Given the description of an element on the screen output the (x, y) to click on. 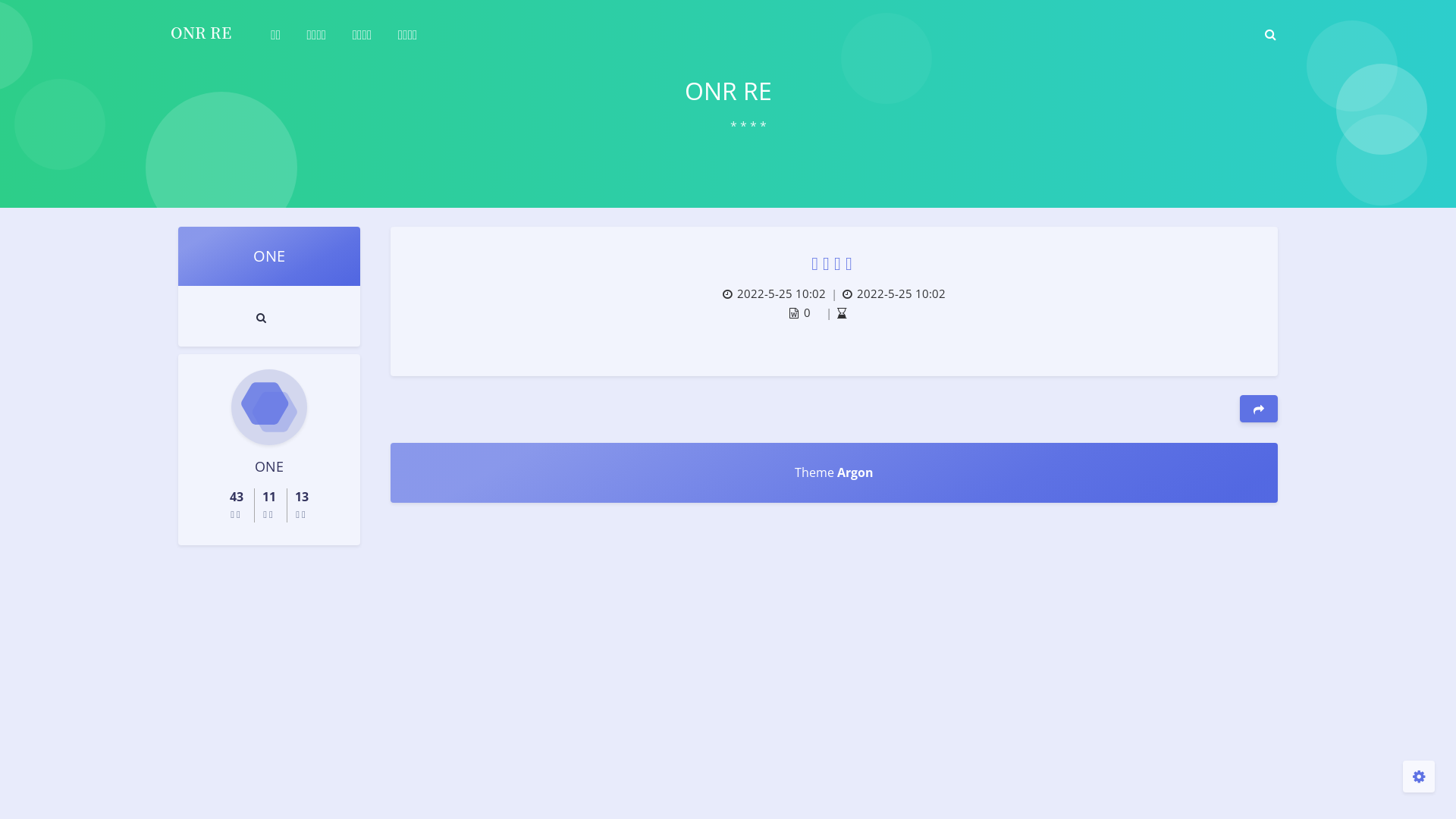
Argon Element type: text (855, 472)
ONR RE Element type: text (200, 33)
